Given the description of an element on the screen output the (x, y) to click on. 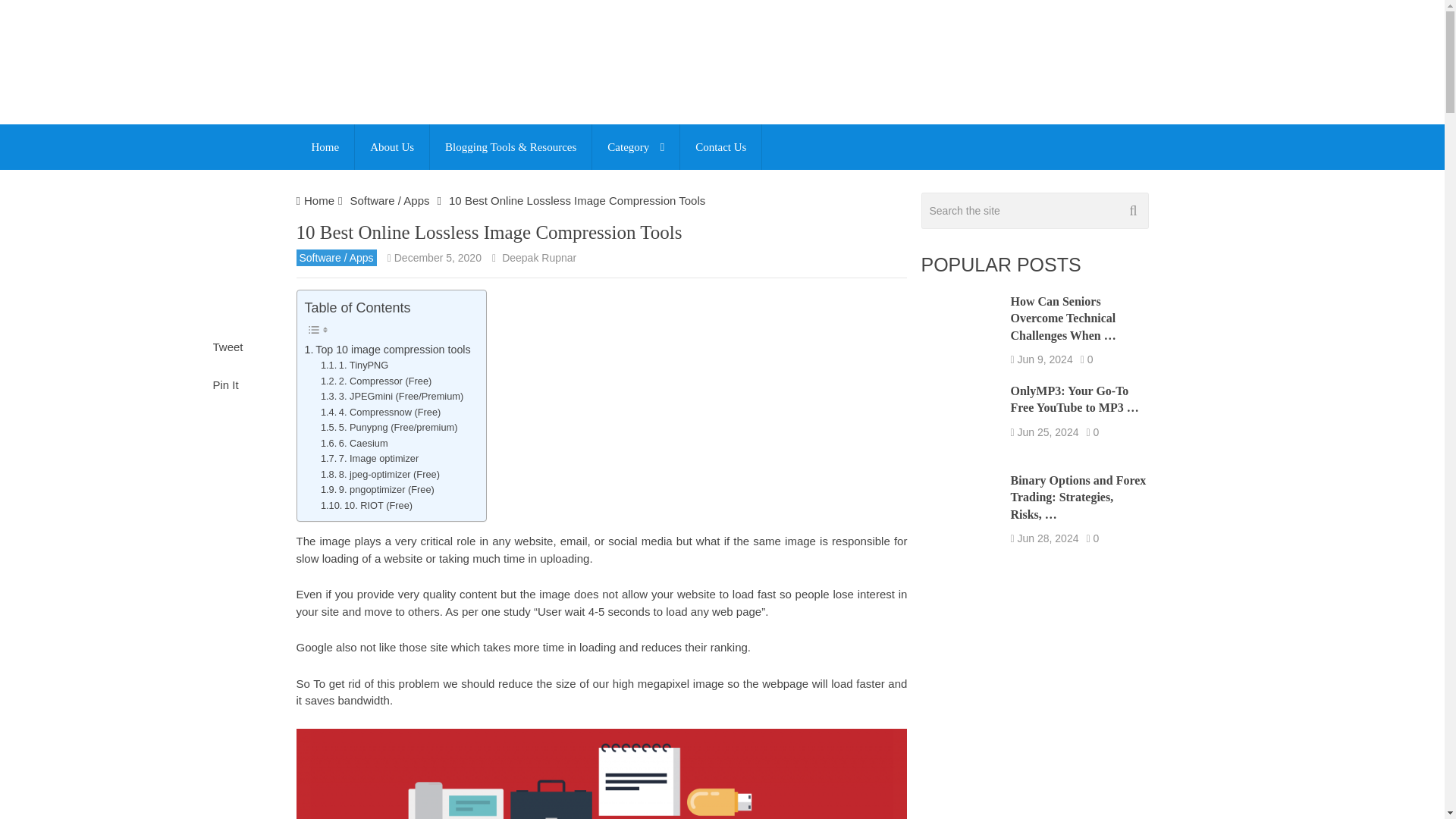
Contact Us (720, 146)
7. Image optimizer (369, 458)
1. TinyPNG (354, 365)
About Us (392, 146)
6. Caesium (354, 443)
7. Image optimizer (369, 458)
Top 10 image compression tools (387, 349)
Posts by Deepak Rupnar (539, 257)
Deepak Rupnar (539, 257)
Top 10 image compression tools (387, 349)
